Given the description of an element on the screen output the (x, y) to click on. 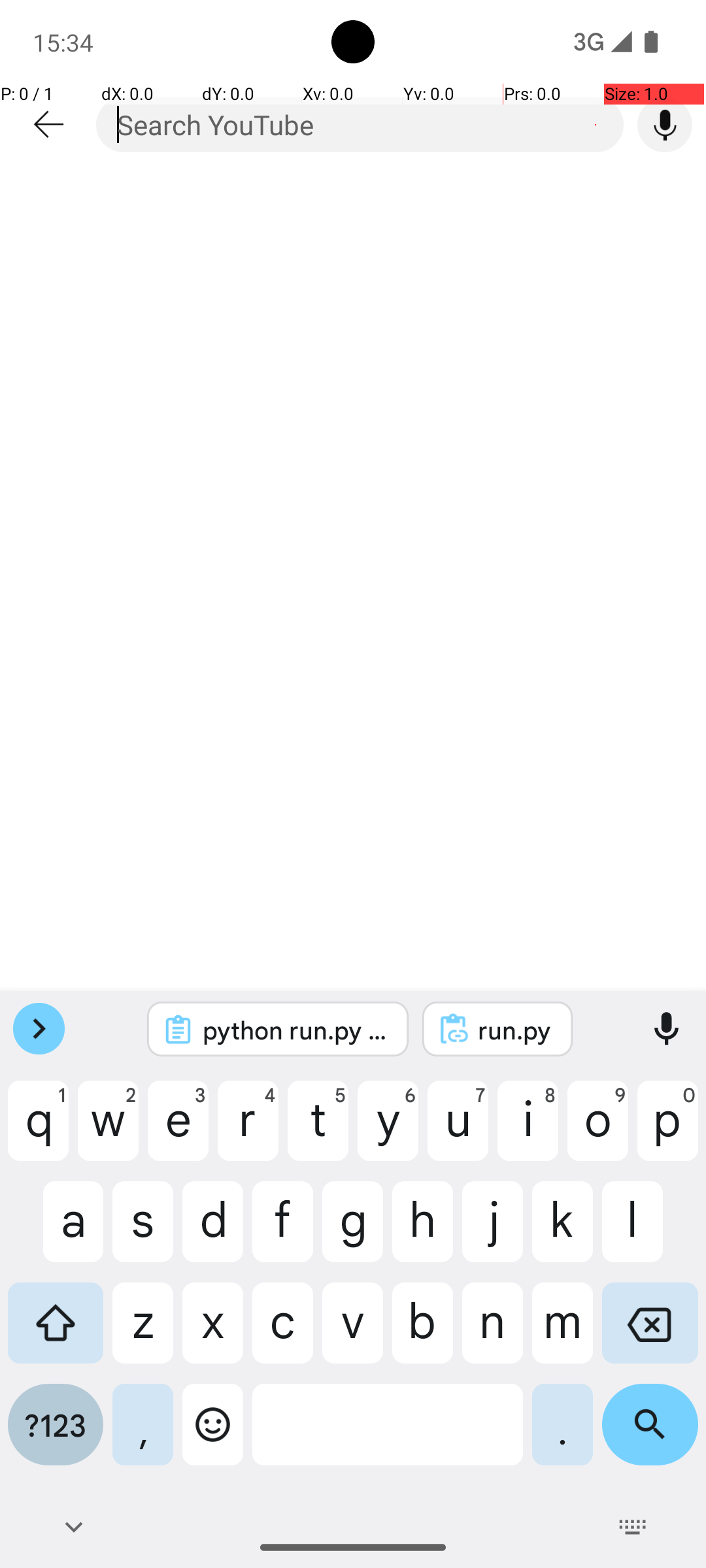
Search YouTube Element type: android.widget.EditText (359, 124)
python run.py \   --suite_family=android_world \   --agent_name=t3a_gpt4 \   --perform_emulator_setup \   --tasks=ContactsAddContact,ClockStopWatchRunning \  # Optional: Just run on a subset. Element type: android.widget.TextView (294, 1029)
run.py Element type: android.widget.TextView (514, 1029)
